Given the description of an element on the screen output the (x, y) to click on. 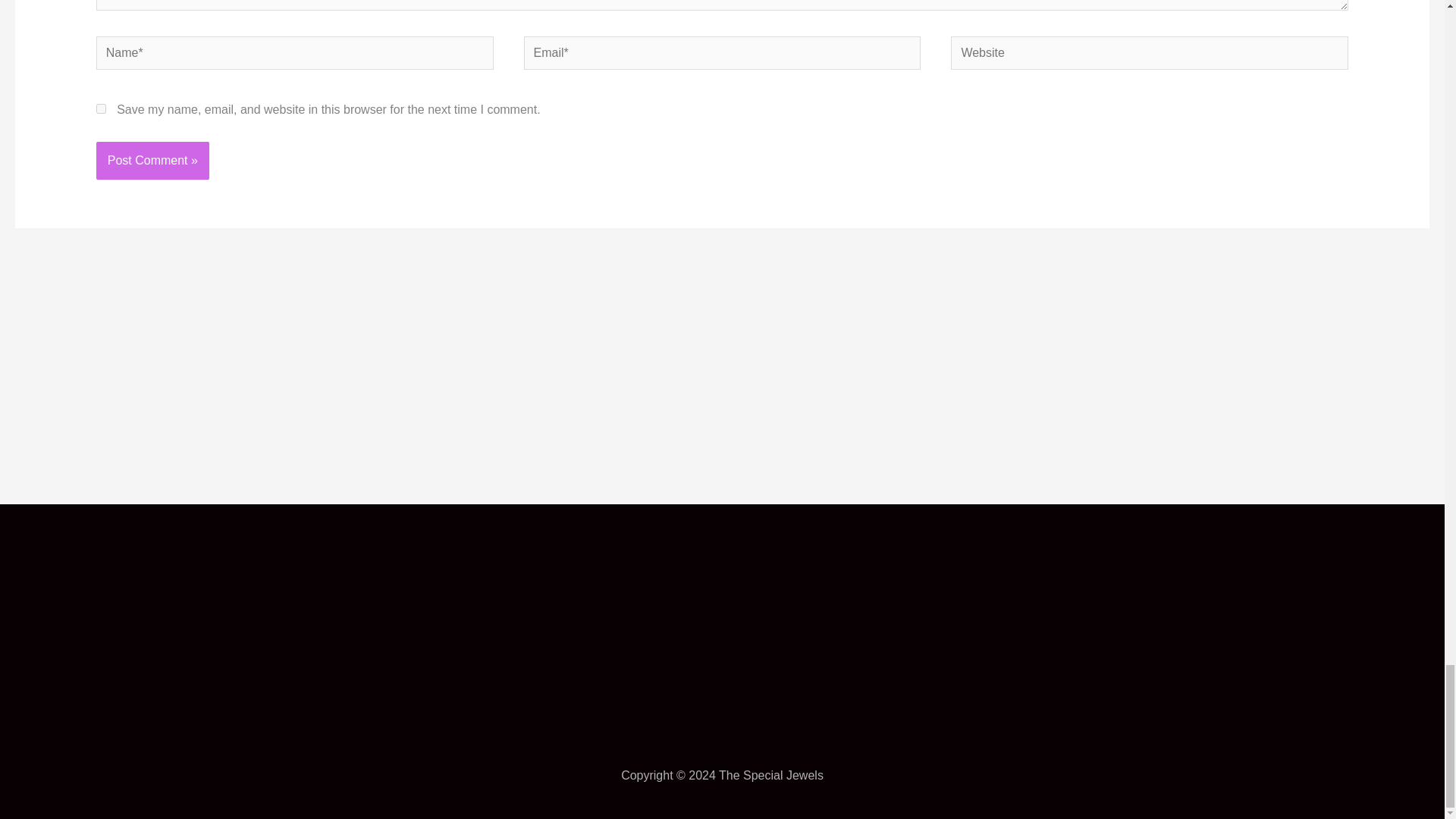
yes (101, 108)
